Given the description of an element on the screen output the (x, y) to click on. 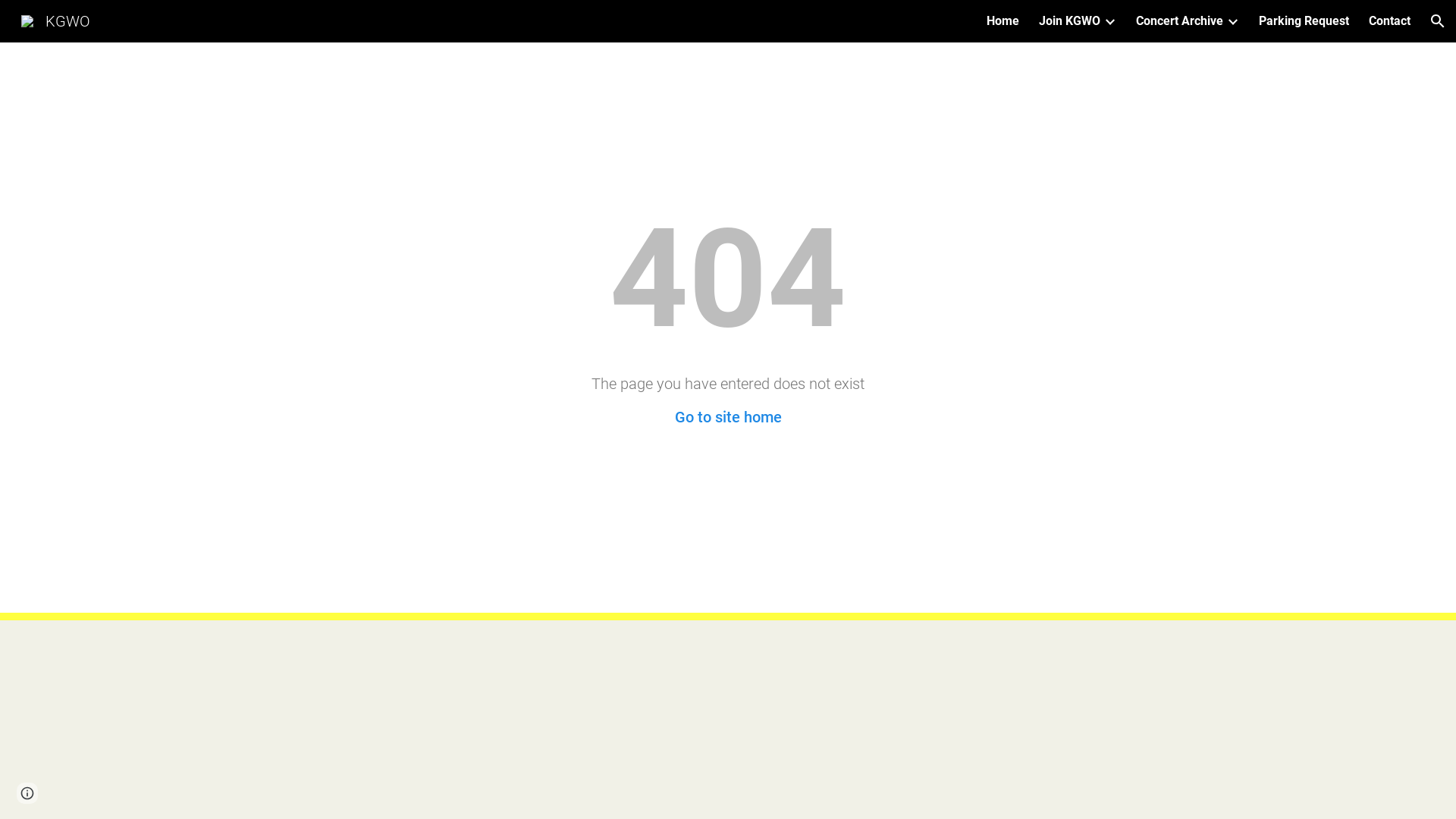
Go to site home Element type: text (727, 416)
Join KGWO Element type: text (1069, 20)
Contact Element type: text (1389, 20)
Expand/Collapse Element type: hover (1109, 20)
Expand/Collapse Element type: hover (1232, 20)
KGWO Element type: text (55, 19)
Parking Request Element type: text (1303, 20)
Concert Archive Element type: text (1179, 20)
Home Element type: text (1002, 20)
